Given the description of an element on the screen output the (x, y) to click on. 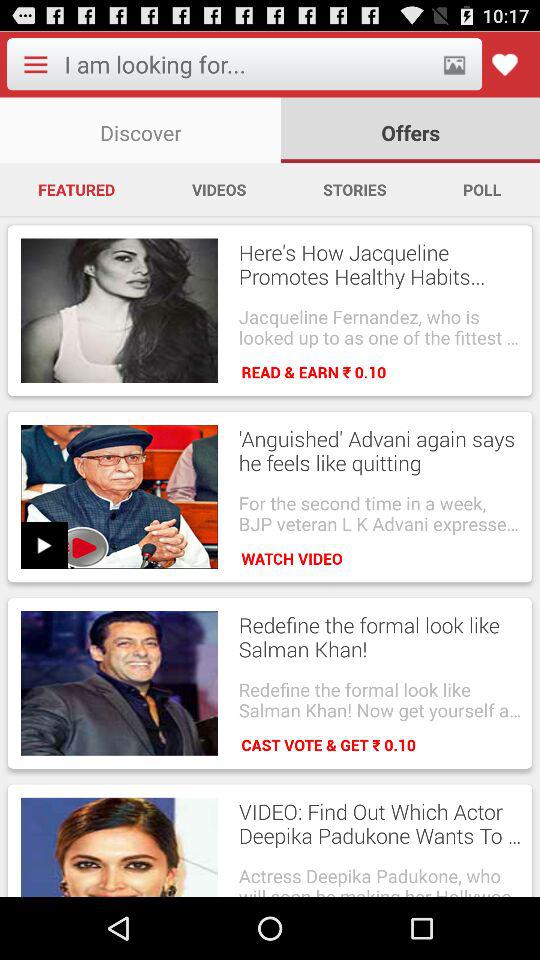
search what we want (246, 64)
